Given the description of an element on the screen output the (x, y) to click on. 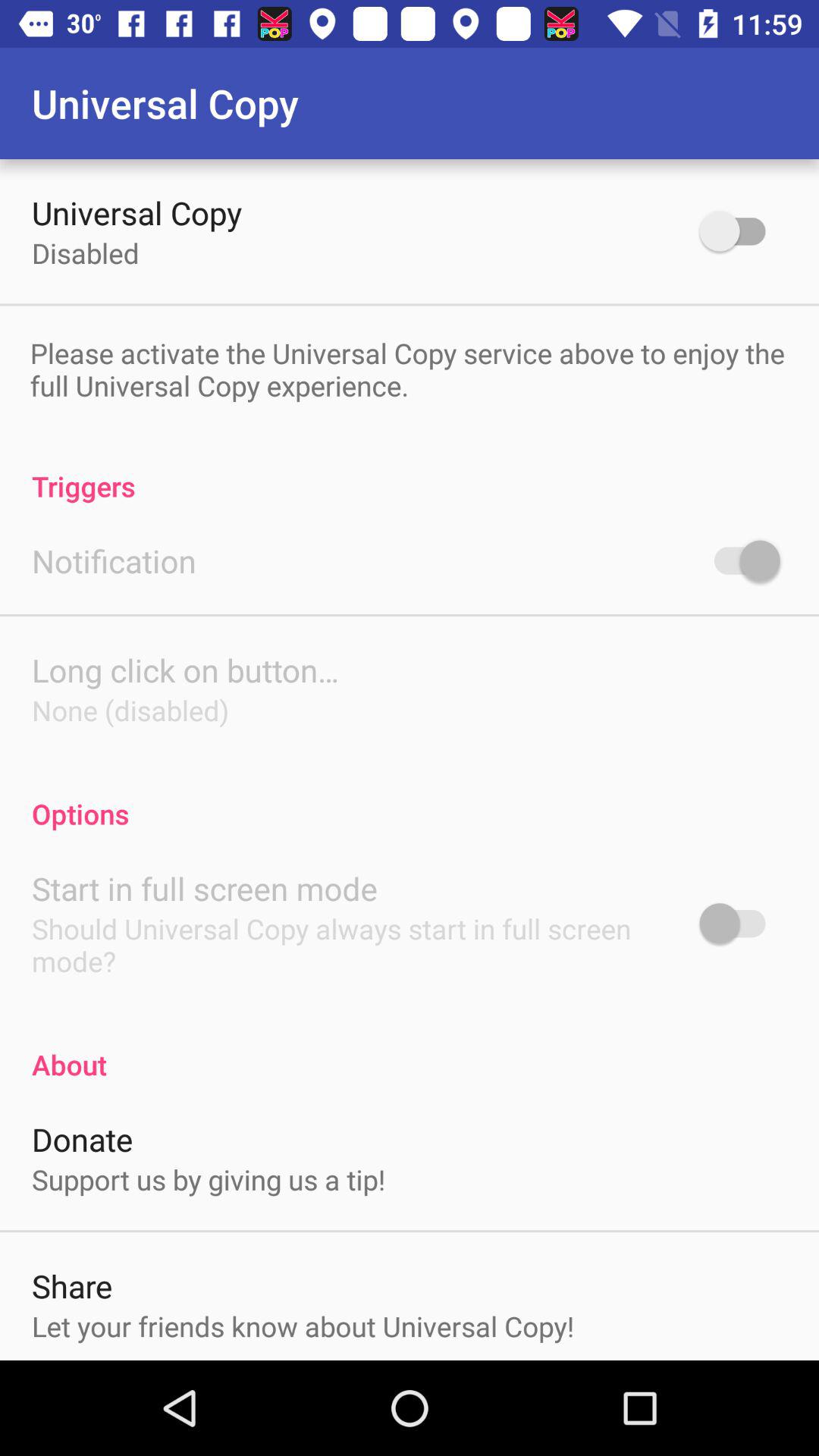
toggle notification (739, 560)
